Given the description of an element on the screen output the (x, y) to click on. 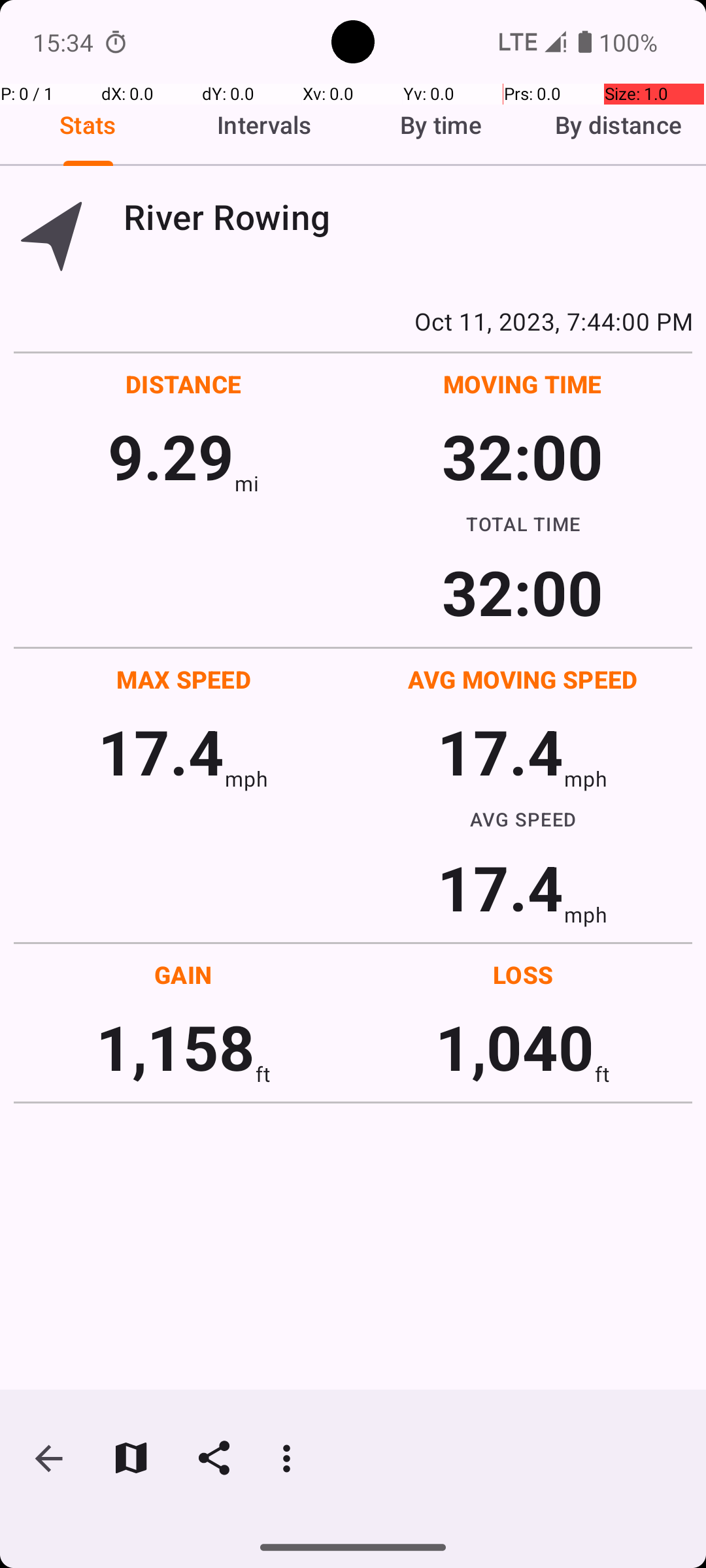
River Rowing Element type: android.widget.TextView (407, 216)
Oct 11, 2023, 7:44:00 PM Element type: android.widget.TextView (352, 320)
9.29 Element type: android.widget.TextView (170, 455)
32:00 Element type: android.widget.TextView (522, 455)
17.4 Element type: android.widget.TextView (161, 750)
1,158 Element type: android.widget.TextView (175, 1045)
1,040 Element type: android.widget.TextView (514, 1045)
